Given the description of an element on the screen output the (x, y) to click on. 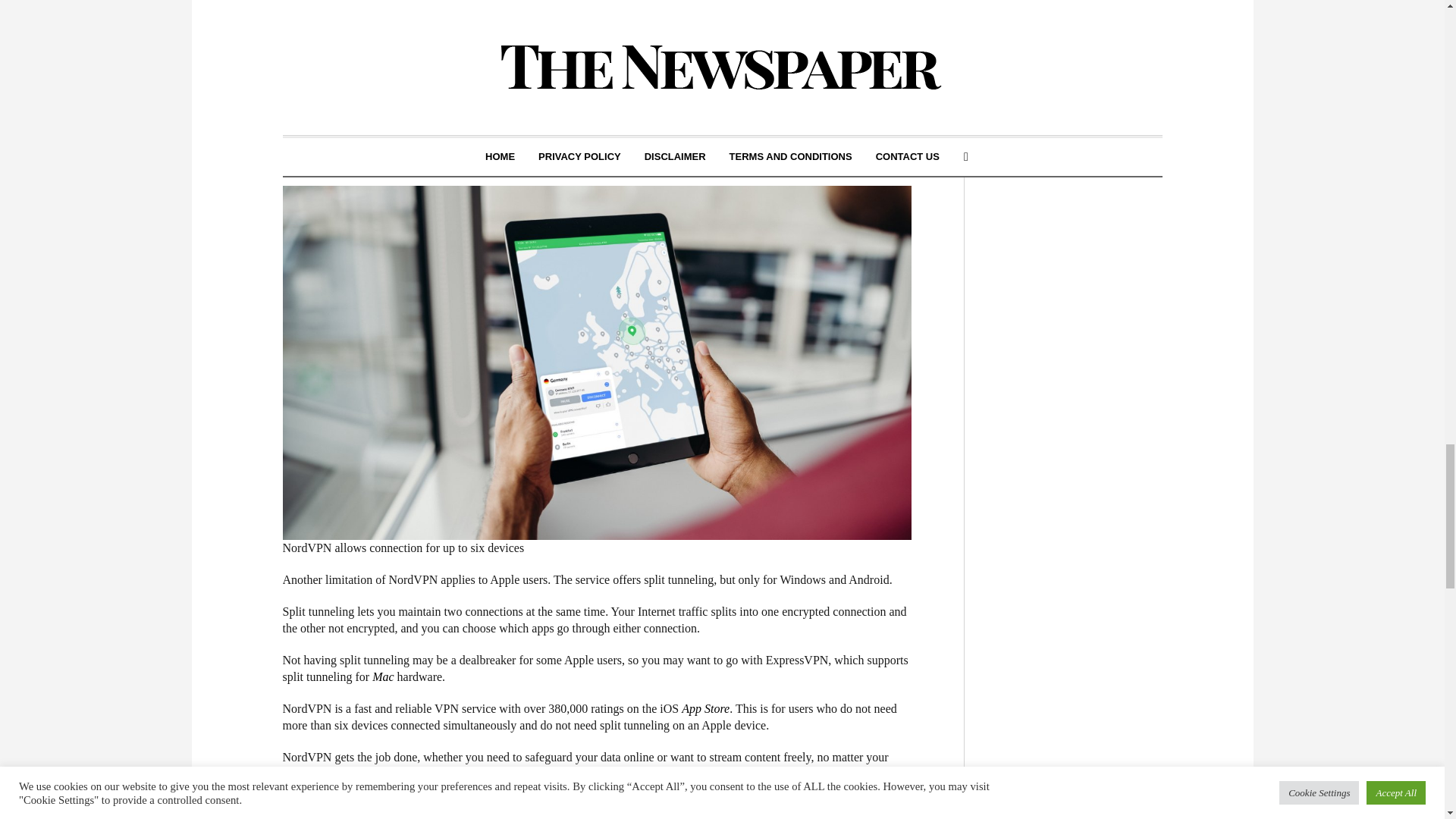
Mac (382, 676)
App Store (705, 707)
App Store (705, 707)
Mac (382, 676)
